Given the description of an element on the screen output the (x, y) to click on. 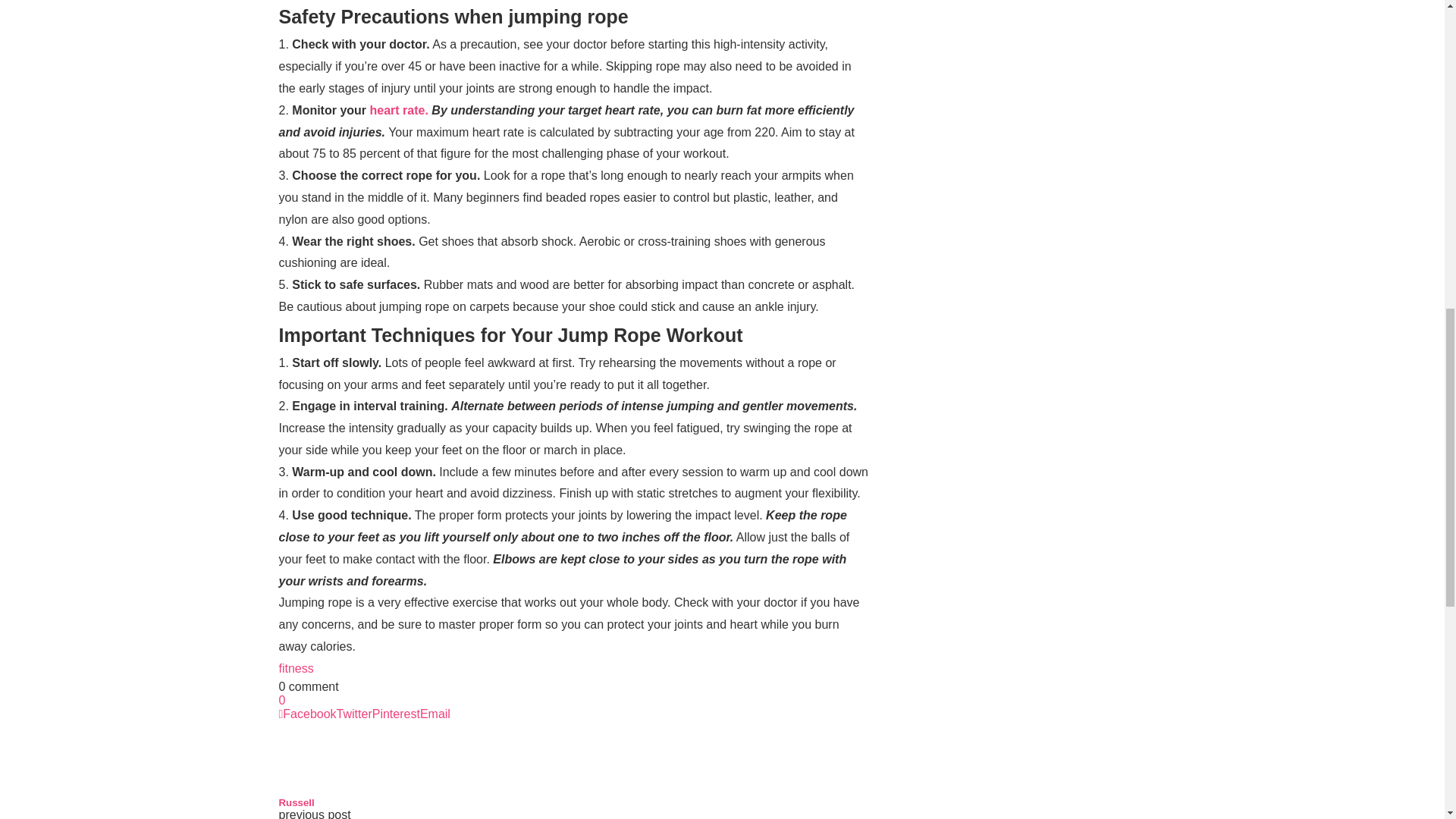
Russell (296, 802)
fitness (296, 667)
Author Russell (296, 802)
Twitter (354, 713)
Pinterest (396, 713)
heart rate. (398, 110)
Facebook (307, 713)
Email (434, 713)
